Given the description of an element on the screen output the (x, y) to click on. 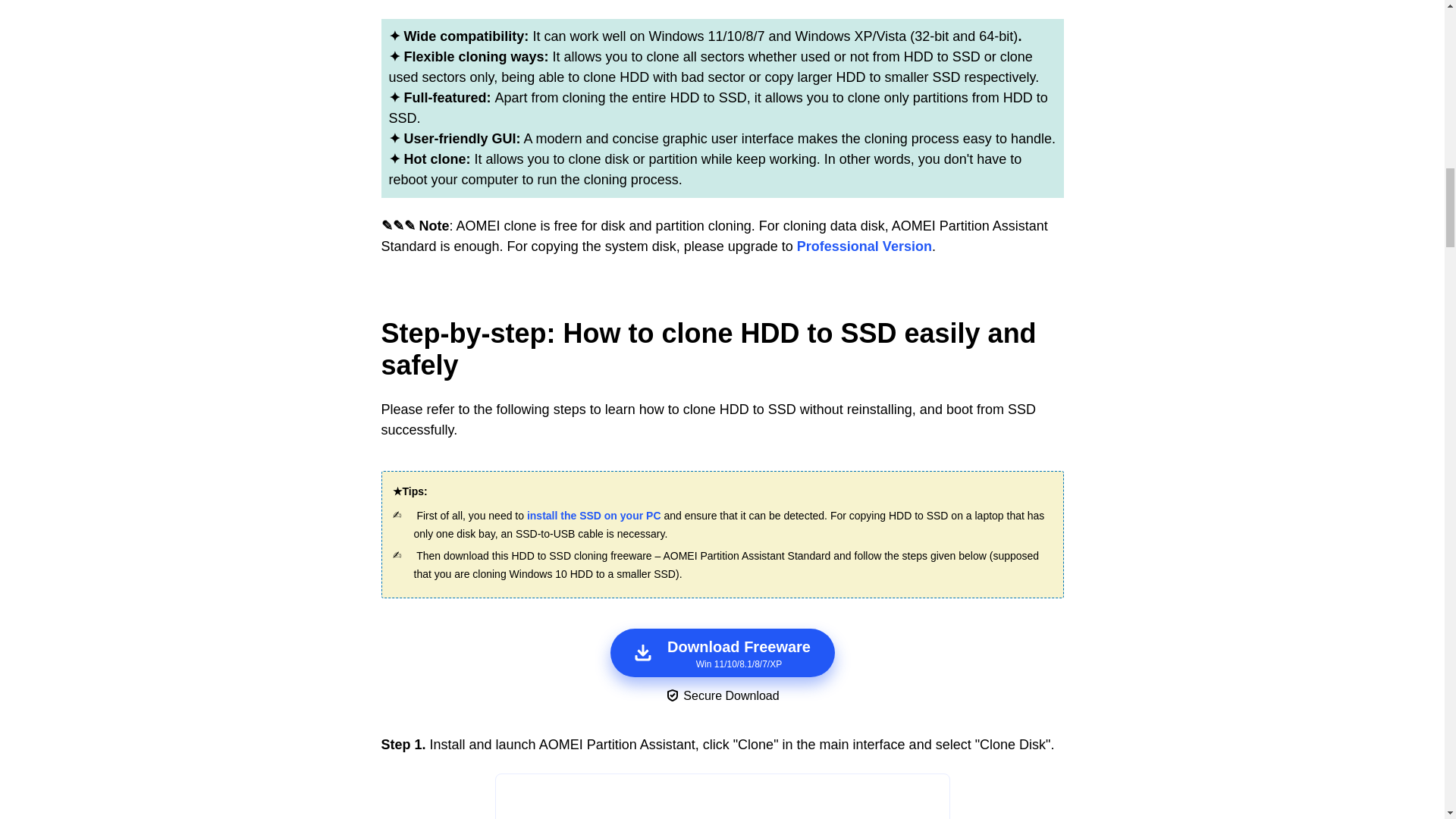
Disk Copy (722, 796)
